Given the description of an element on the screen output the (x, y) to click on. 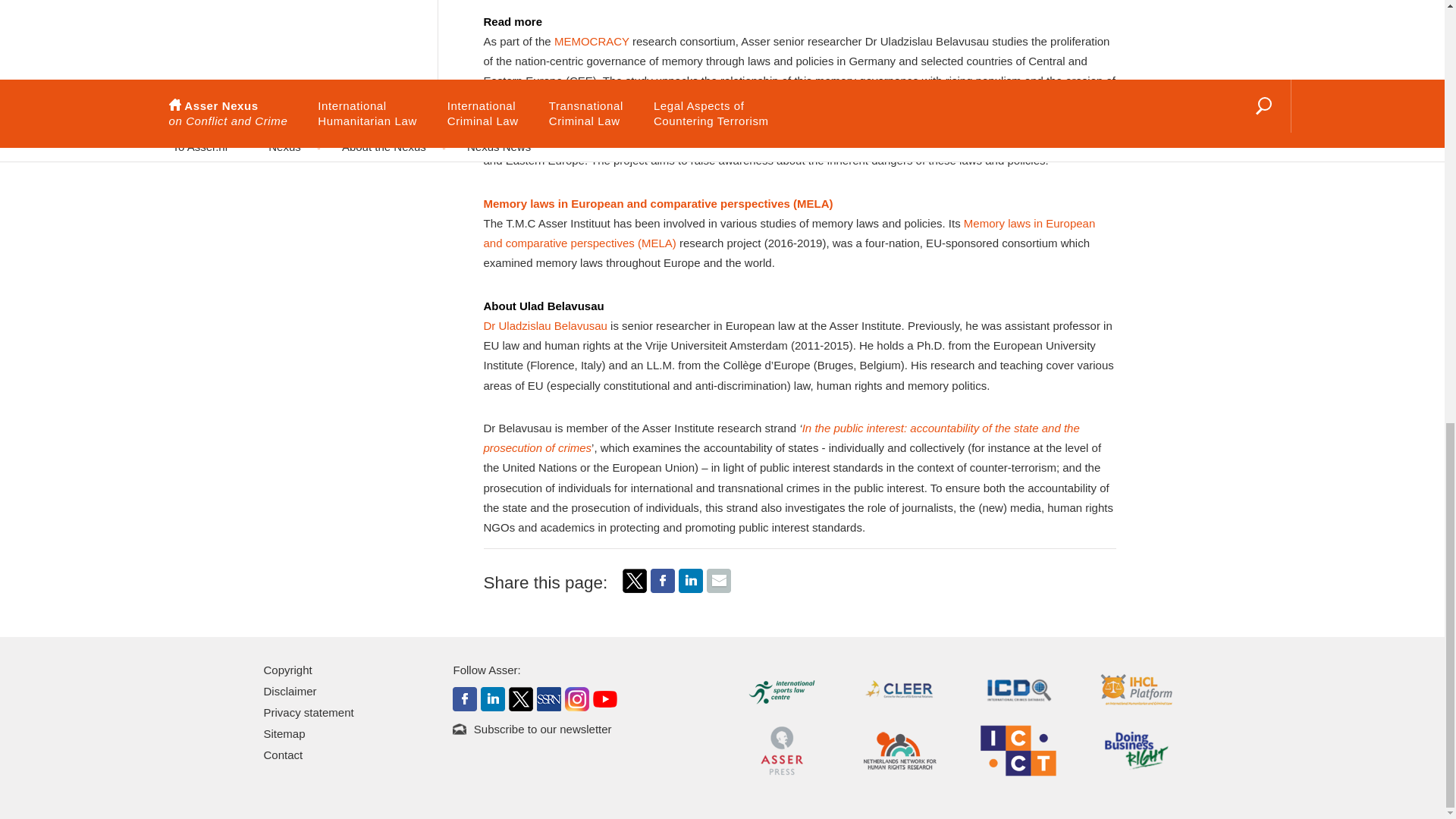
Asser Press (781, 748)
IHCL Platform (1136, 688)
International Crimes Database (1018, 688)
Tweet (634, 580)
Follow us on Twitter (520, 697)
Facebook (662, 588)
Follow us on Instagram (576, 697)
Cleer (899, 688)
LinkedIn (690, 580)
Email (718, 588)
